Given the description of an element on the screen output the (x, y) to click on. 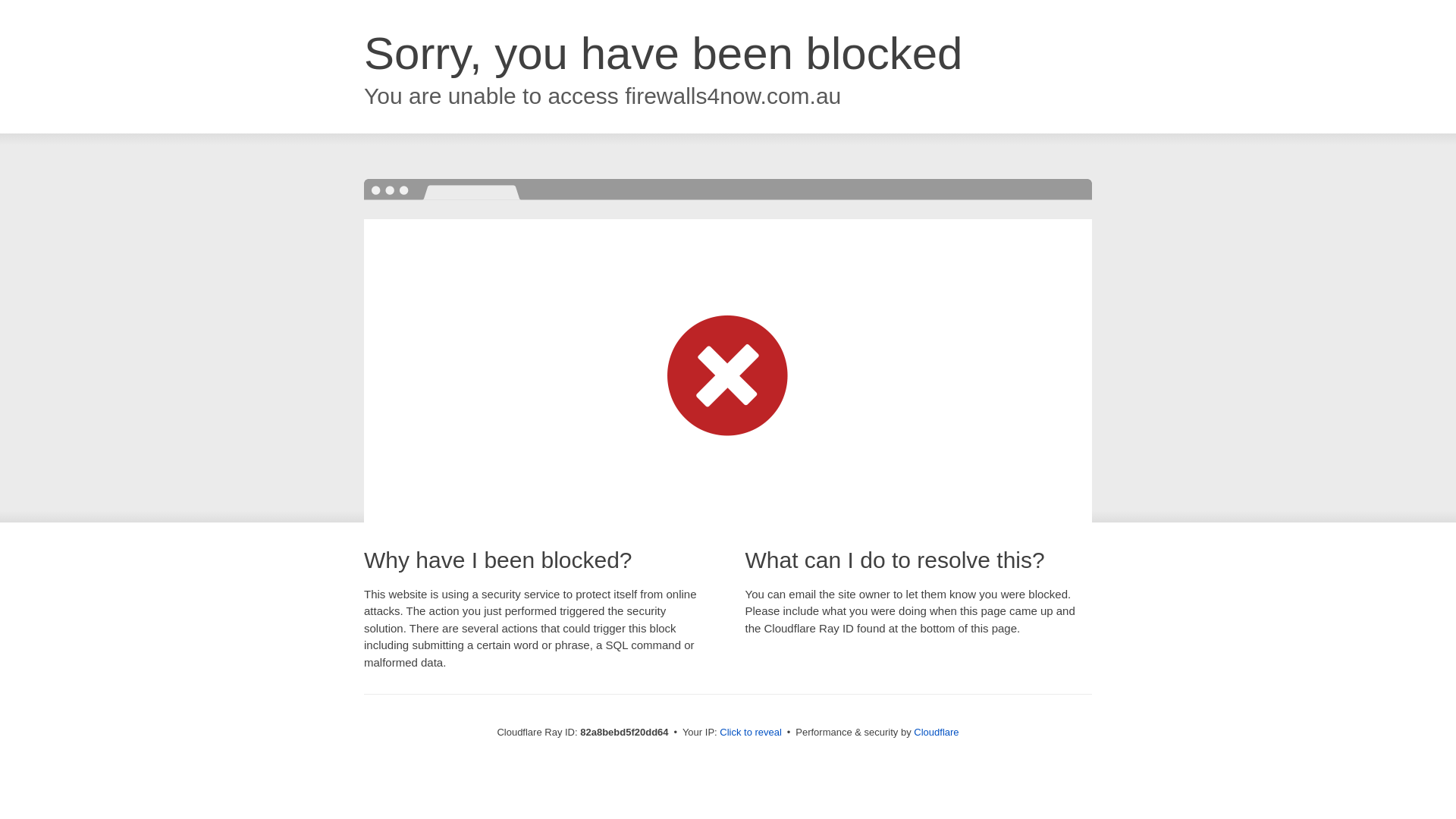
Cloudflare Element type: text (935, 731)
Click to reveal Element type: text (750, 732)
